Given the description of an element on the screen output the (x, y) to click on. 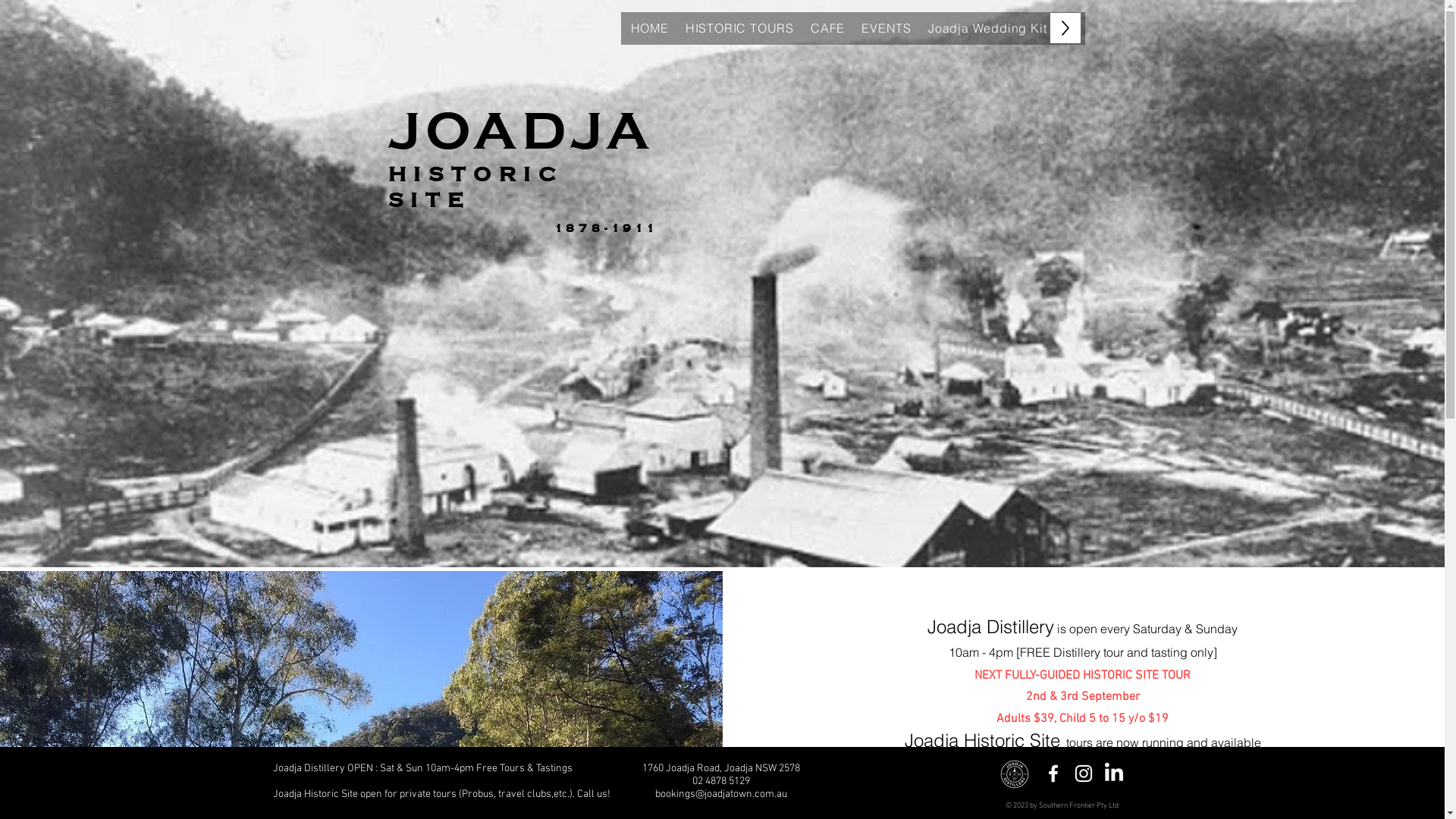
DISTILLERY Element type: text (1160, 27)
bookings@joadjatown.com.au Element type: text (721, 793)
HISTORIC TOURS Element type: text (739, 27)
1760 Joadja Road, Joadja NSW 2578 Element type: text (720, 768)
Joadja Wedding Kit Element type: text (987, 27)
EVENTS Element type: text (886, 27)
HOME Element type: text (649, 27)
ABOUT Element type: text (1085, 27)
02 4878 5129 Element type: text (720, 781)
CAFE Element type: text (827, 27)
